Given the description of an element on the screen output the (x, y) to click on. 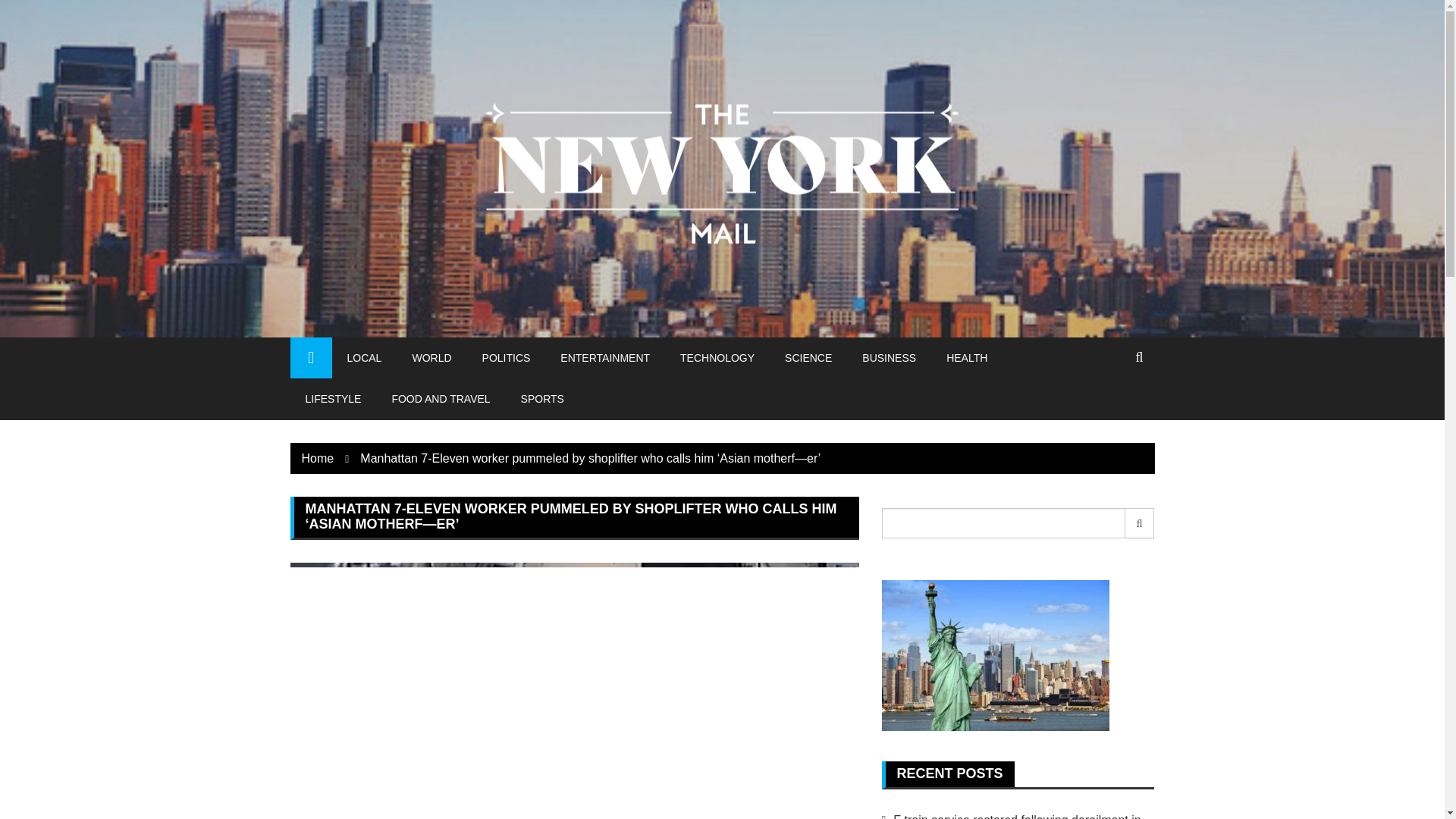
POLITICS (506, 357)
LOCAL (364, 357)
Home (317, 458)
SPORTS (542, 398)
BUSINESS (889, 357)
WORLD (430, 357)
SCIENCE (808, 357)
LIFESTYLE (332, 398)
FOOD AND TRAVEL (440, 398)
Search (1139, 522)
TECHNOLOGY (717, 357)
ENTERTAINMENT (604, 357)
HEALTH (967, 357)
